Given the description of an element on the screen output the (x, y) to click on. 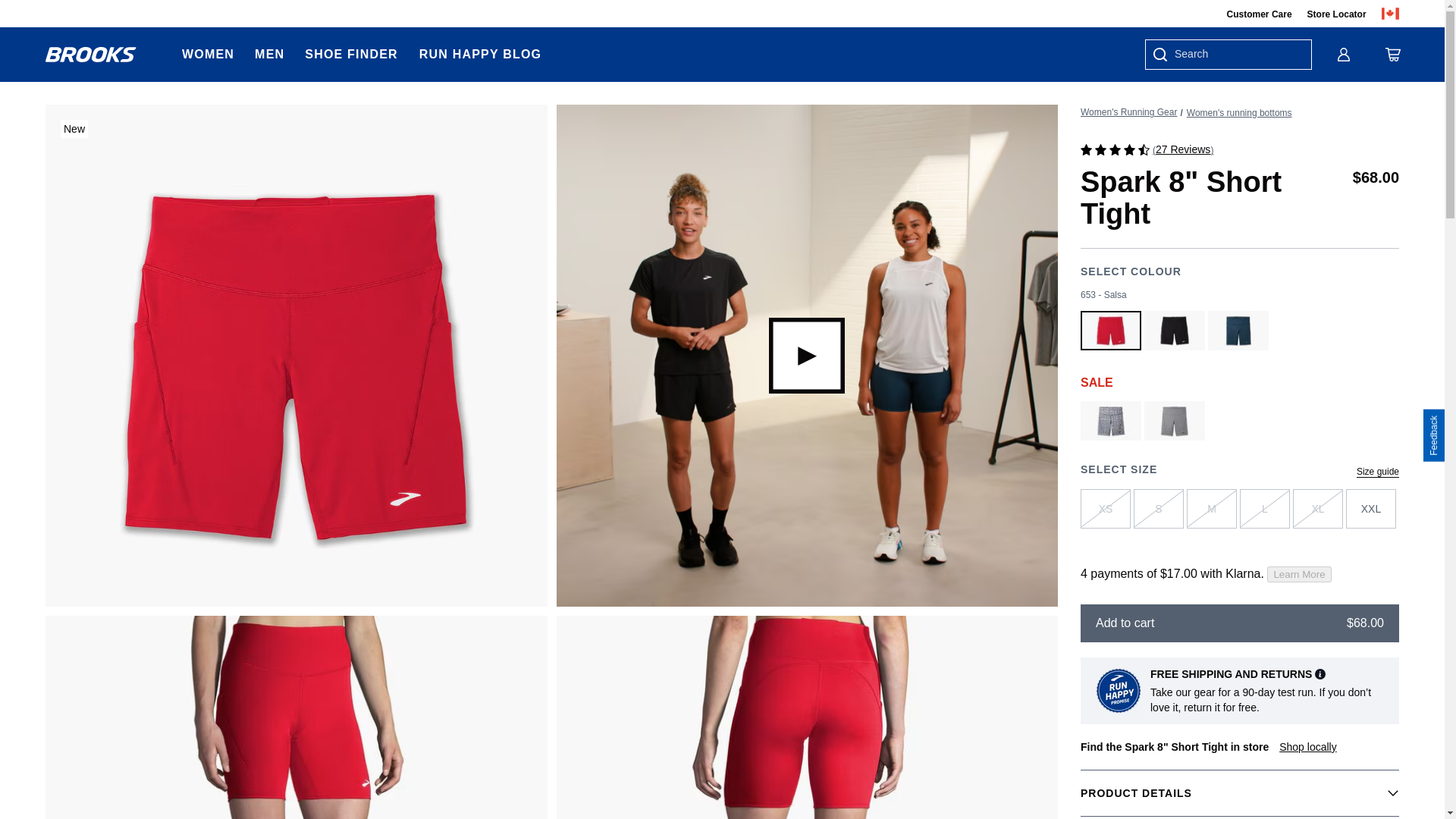
Customer Care (1259, 14)
Link to Store Locator page (1337, 14)
Skip to main content (55, 15)
To the Run Happy Blog category (480, 54)
To the Shoe Finder category (350, 54)
Running shoes and apparel by Brooks Running (90, 54)
To the Women category (208, 54)
Store Locator (1337, 14)
Link to Customer Care page (1259, 14)
Skip to footer content (56, 15)
